Given the description of an element on the screen output the (x, y) to click on. 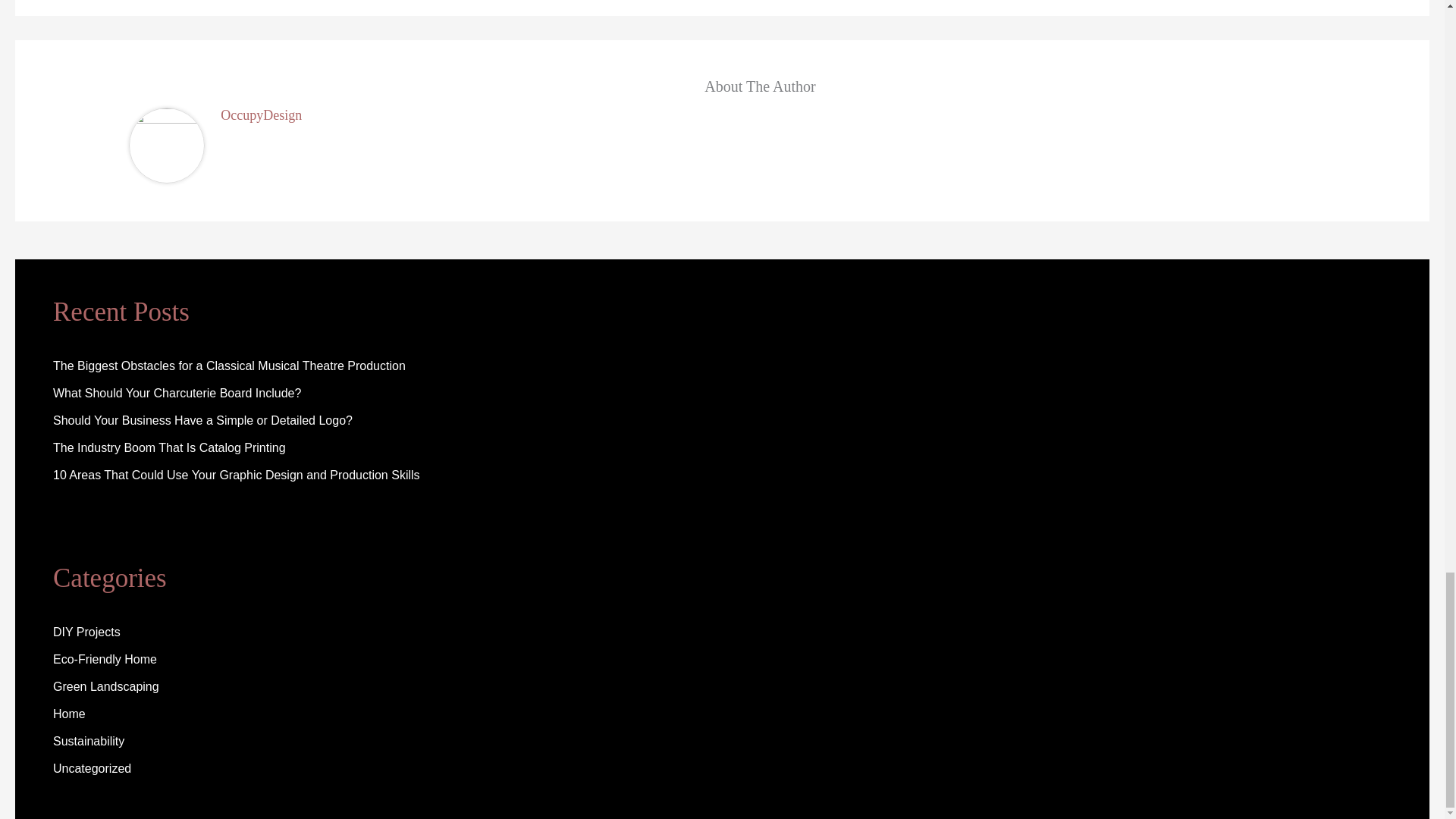
Sustainability (87, 740)
Green Landscaping (105, 686)
Uncategorized (91, 768)
What Should Your Charcuterie Board Include? (176, 392)
The Industry Boom That Is Catalog Printing (168, 447)
DIY Projects (86, 631)
OccupyDesign (261, 115)
Home (68, 713)
Should Your Business Have a Simple or Detailed Logo? (202, 420)
Eco-Friendly Home (104, 658)
